Given the description of an element on the screen output the (x, y) to click on. 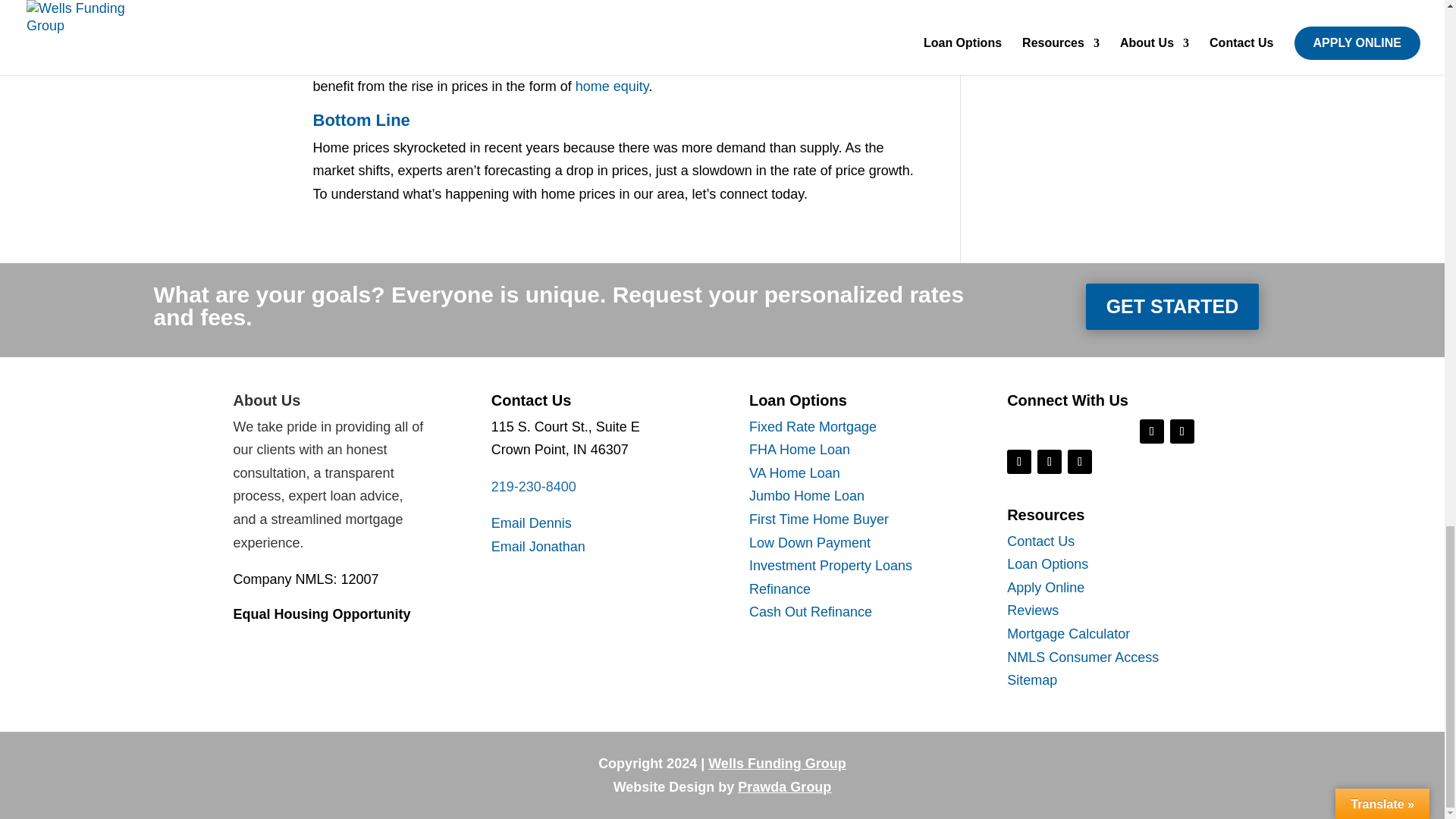
GET STARTED (1172, 306)
Follow on Facebook (1151, 431)
Follow on X (1181, 431)
Follow on Instagram (1018, 461)
home equity (612, 86)
Fixed Rate Mortgage (812, 426)
219-230-8400 (534, 486)
homes for sale (361, 5)
Email Jonathan (538, 546)
Follow on LinkedIn (1048, 461)
Follow on Youtube (1079, 461)
FHA Home Loan (799, 449)
Email Dennis (532, 522)
